Given the description of an element on the screen output the (x, y) to click on. 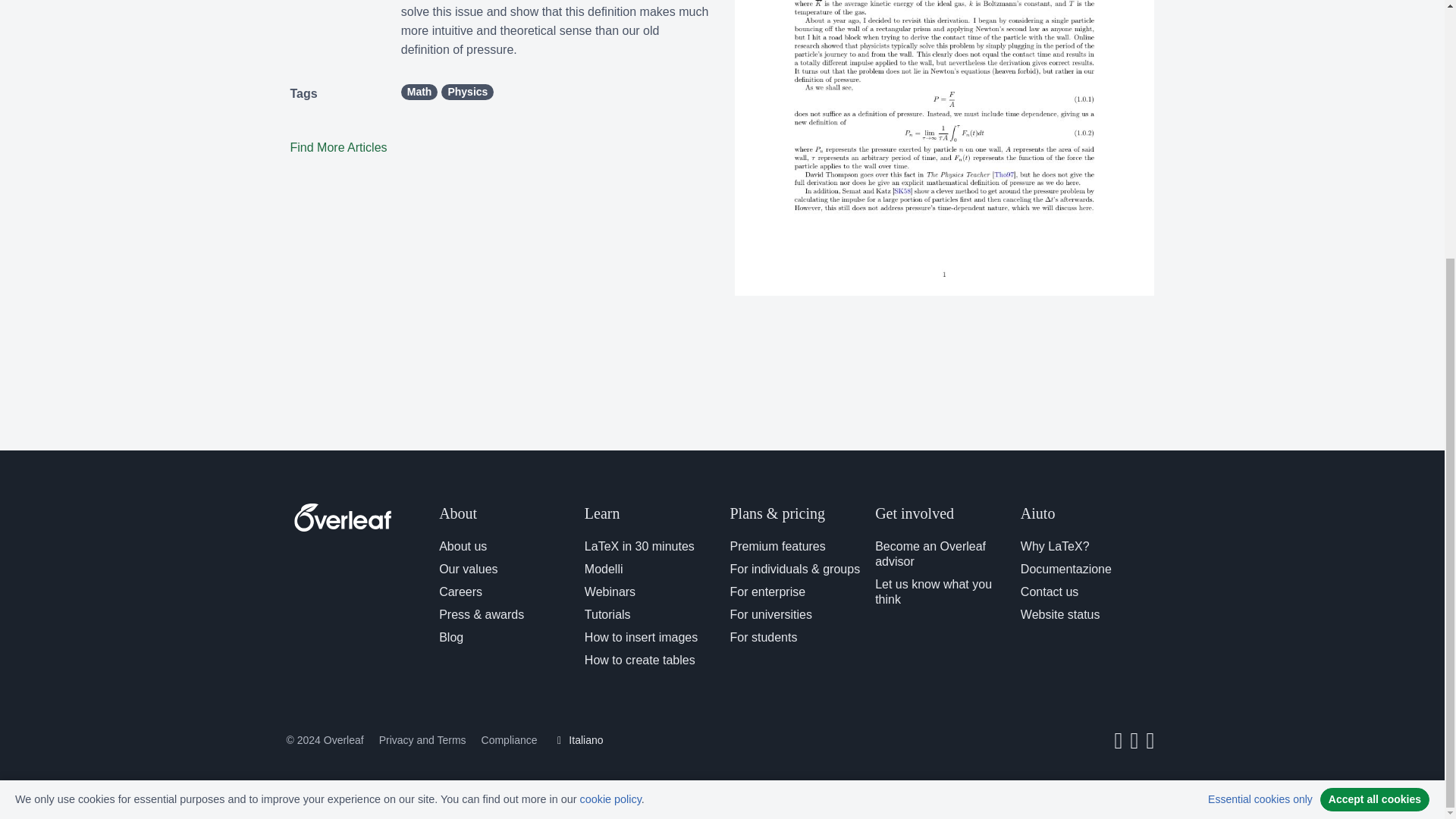
Math (419, 91)
Premium features (777, 545)
For enterprise (767, 591)
Tutorials (607, 614)
Blog (451, 636)
Modelli (604, 568)
Find More Articles (338, 146)
How to create tables (640, 659)
How to insert images (641, 636)
Careers (460, 591)
About us (462, 545)
LaTeX in 30 minutes (639, 545)
Physics (467, 91)
Our values (468, 568)
Webinars (609, 591)
